Given the description of an element on the screen output the (x, y) to click on. 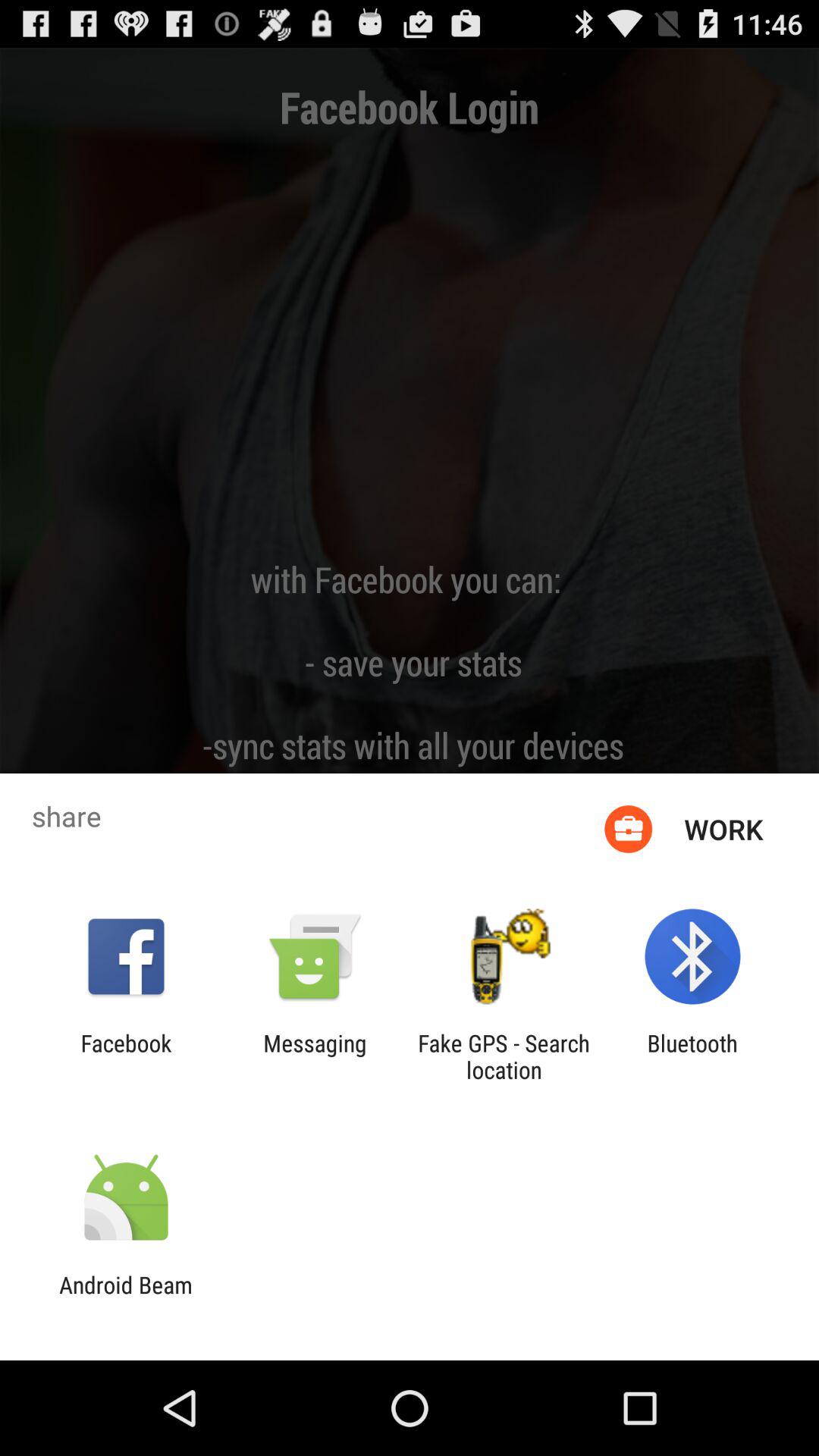
flip to the fake gps search (503, 1056)
